Given the description of an element on the screen output the (x, y) to click on. 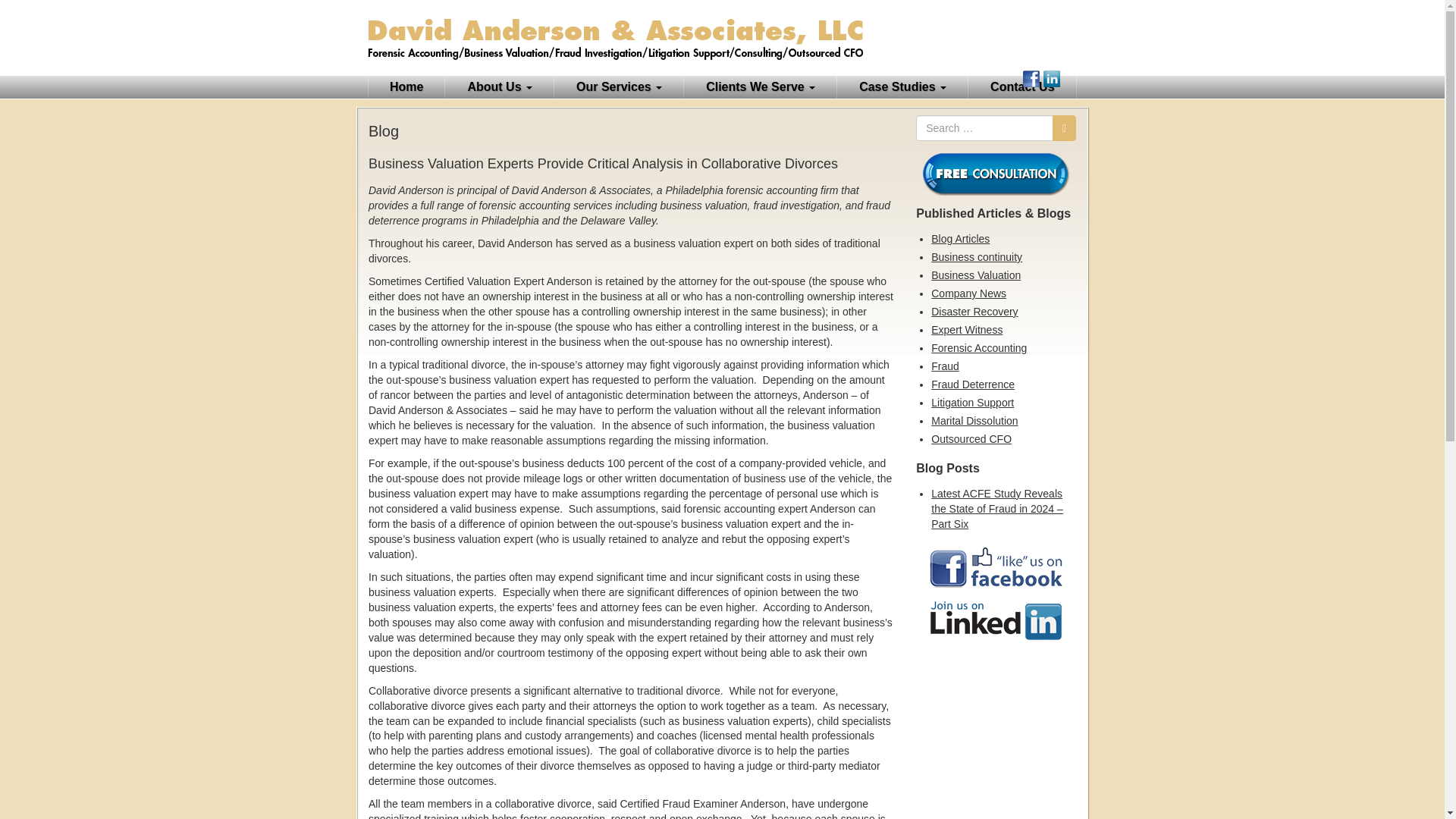
Case Studies (902, 87)
Our Services (619, 87)
Clients We Serve (760, 87)
Blog (1072, 78)
Facebook (1031, 78)
Our Services (619, 87)
Home (406, 87)
LinkedIn (1051, 78)
Home (406, 87)
Contact Us (1021, 87)
